Given the description of an element on the screen output the (x, y) to click on. 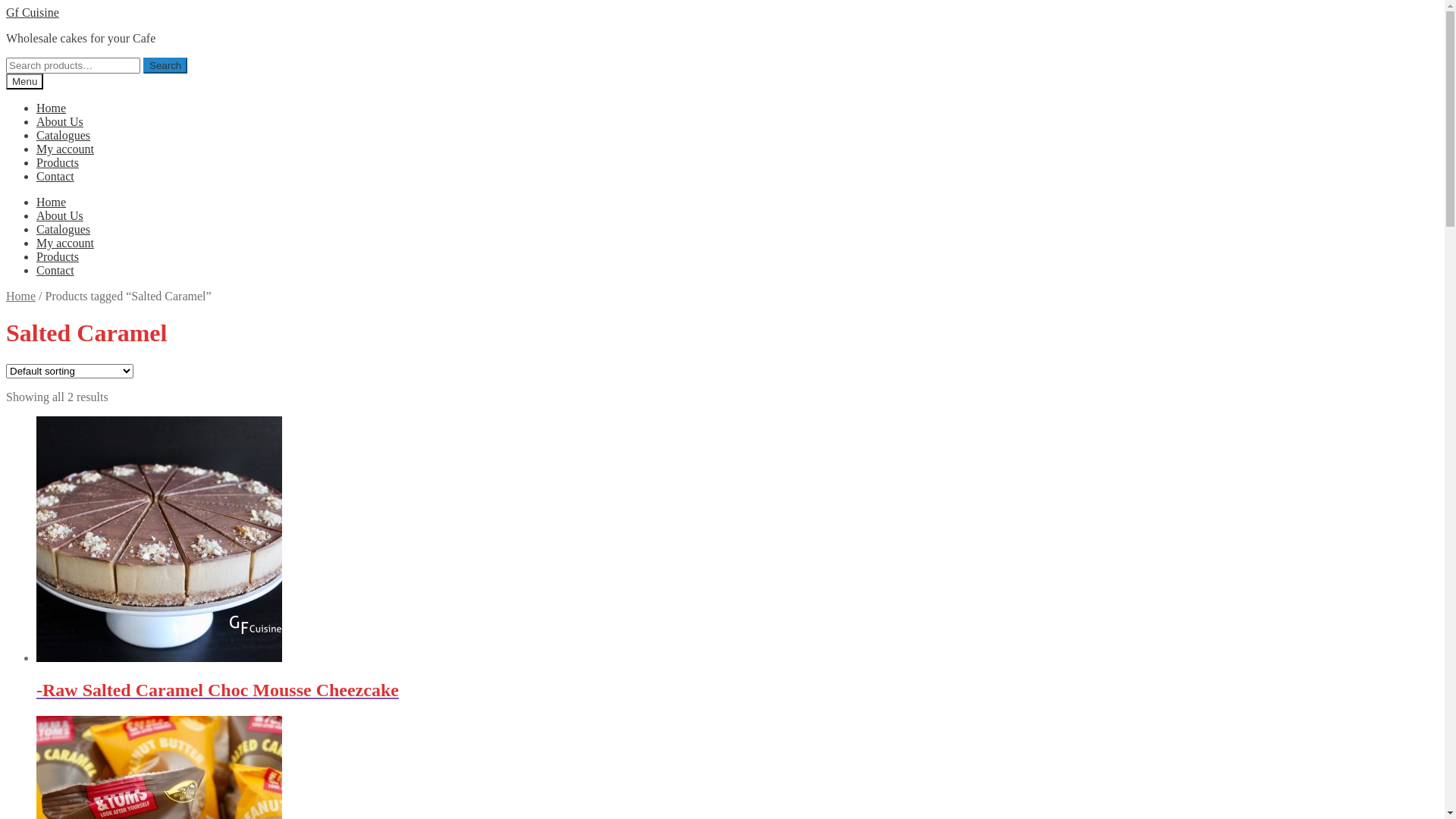
Catalogues Element type: text (63, 134)
Search Element type: text (165, 65)
Home Element type: text (20, 295)
Catalogues Element type: text (63, 228)
My account Element type: text (65, 148)
Menu Element type: text (24, 81)
About Us Element type: text (59, 215)
Products Element type: text (57, 256)
Skip to navigation Element type: text (5, 5)
-Raw Salted Caramel Choc Mousse Cheezcake Element type: text (737, 675)
Gf Cuisine Element type: text (32, 12)
Home Element type: text (50, 107)
Products Element type: text (57, 162)
Home Element type: text (50, 201)
Contact Element type: text (55, 269)
Contact Element type: text (55, 175)
My account Element type: text (65, 242)
About Us Element type: text (59, 121)
